Given the description of an element on the screen output the (x, y) to click on. 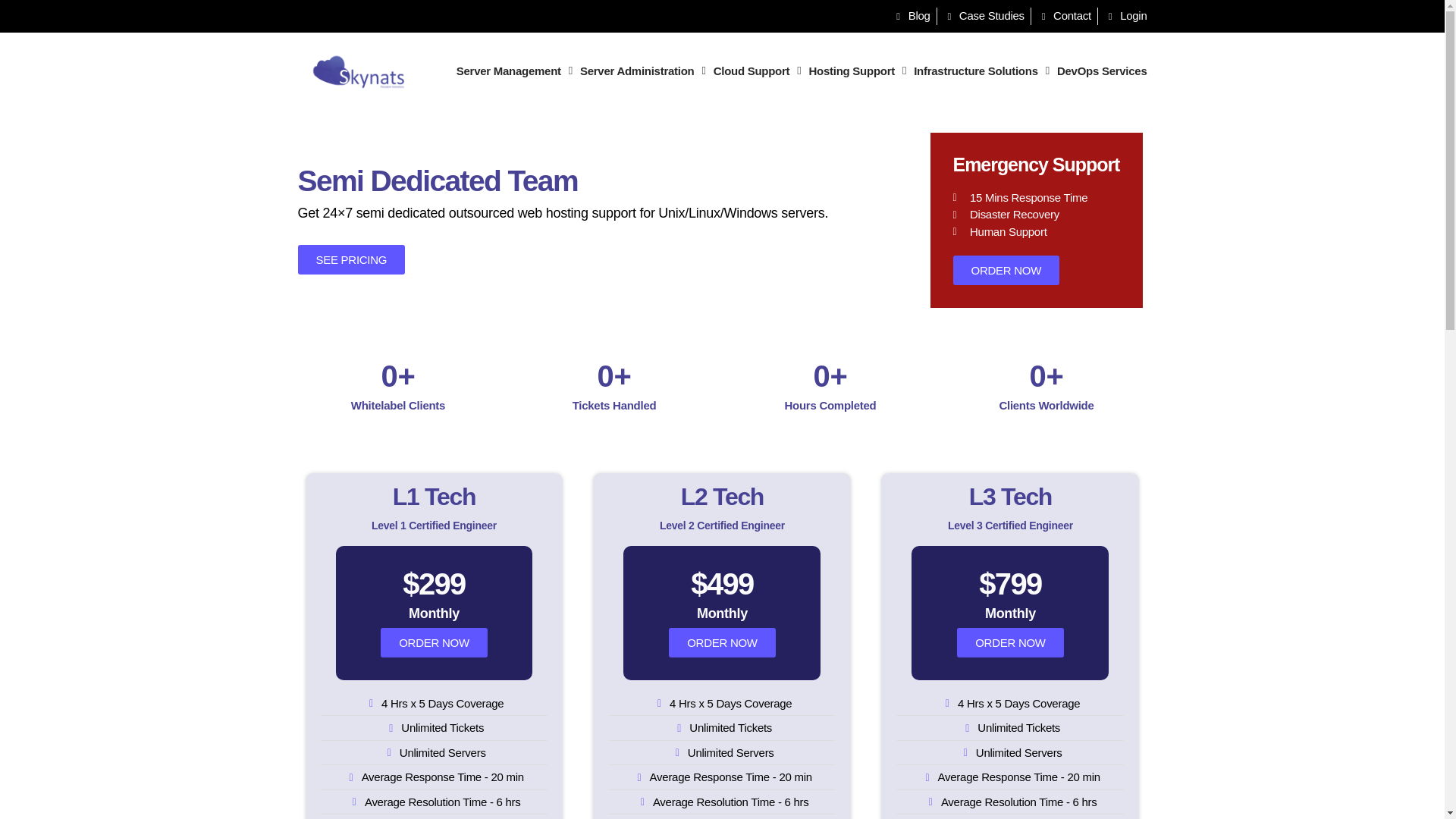
Hosting Support (858, 71)
Contact (1063, 16)
DevOps Services (1101, 71)
Server Administration (643, 71)
Server Management (514, 71)
Blog (910, 16)
Infrastructure Solutions (981, 71)
Case Studies (984, 16)
Login (1125, 16)
Cloud Support (757, 71)
